Given the description of an element on the screen output the (x, y) to click on. 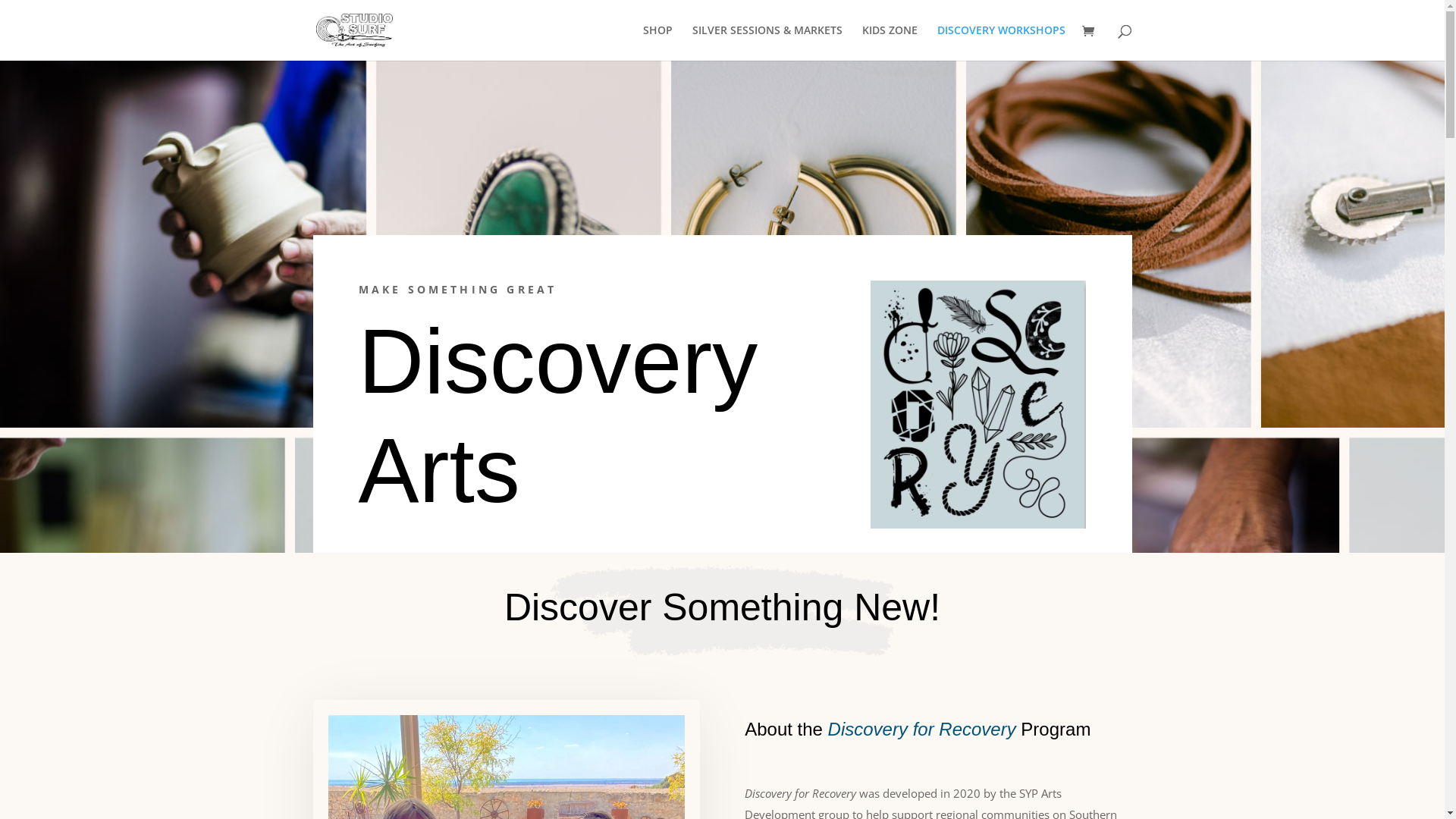
SHOP Element type: text (657, 42)
SILVER SESSIONS & MARKETS Element type: text (766, 42)
KIDS ZONE Element type: text (888, 42)
DISCOVERY WORKSHOPS Element type: text (1001, 42)
